Given the description of an element on the screen output the (x, y) to click on. 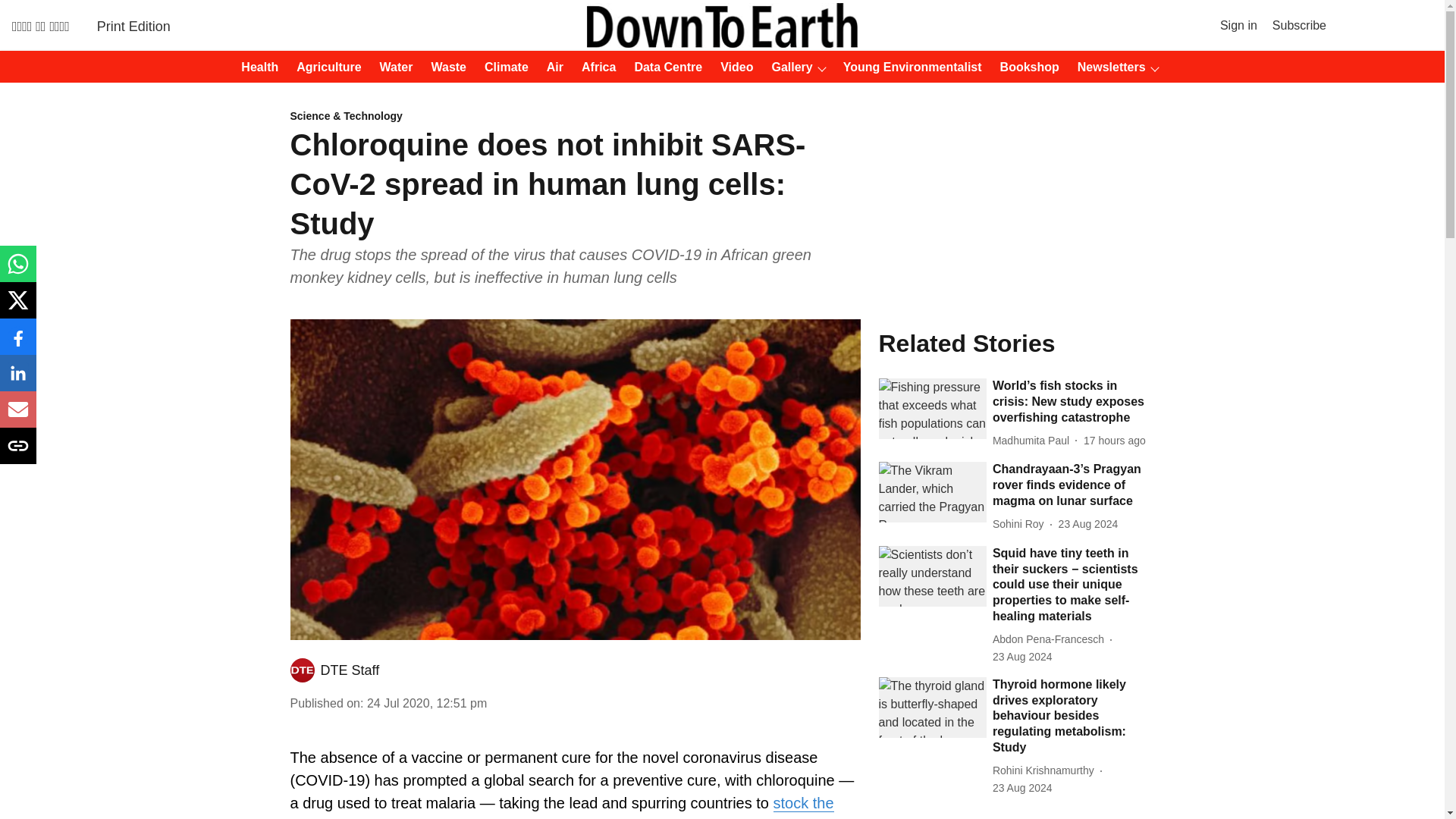
Water (392, 67)
Data Centre (662, 67)
Young Environmentalist (907, 67)
2020-07-24 04:51 (426, 703)
2024-08-23 07:34 (1022, 657)
2024-08-23 00:44 (1022, 788)
stock the medicine (560, 806)
DTE Staff (349, 670)
2024-08-29 06:39 (1114, 440)
Bookshop (1025, 67)
